Given the description of an element on the screen output the (x, y) to click on. 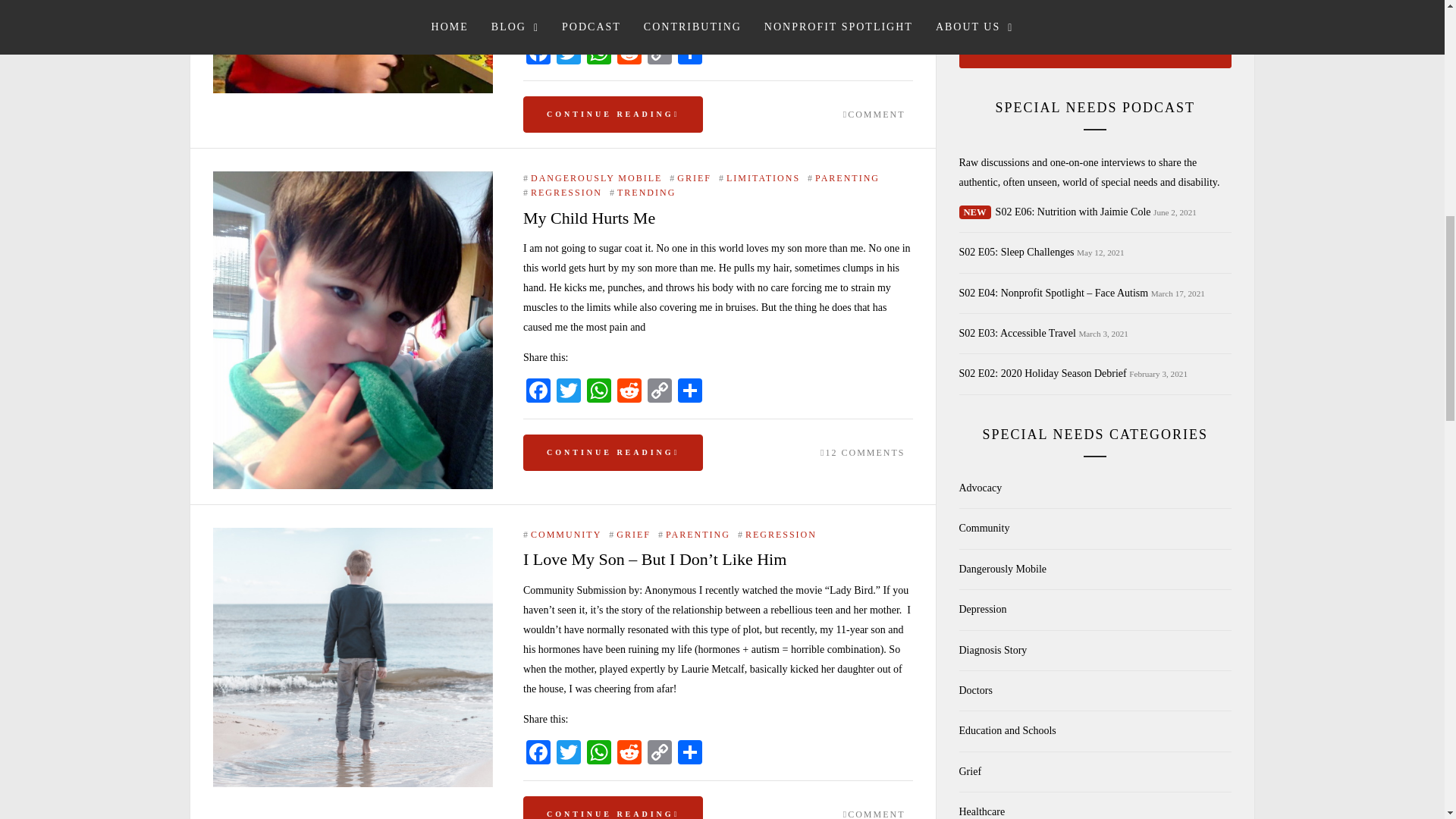
Facebook (537, 392)
Twitter (568, 754)
Reddit (629, 392)
Facebook (537, 53)
Copy Link (660, 53)
My Child Hurts Me (352, 179)
Facebook (537, 53)
WhatsApp (598, 392)
Copy Link (660, 392)
Twitter (568, 53)
